Given the description of an element on the screen output the (x, y) to click on. 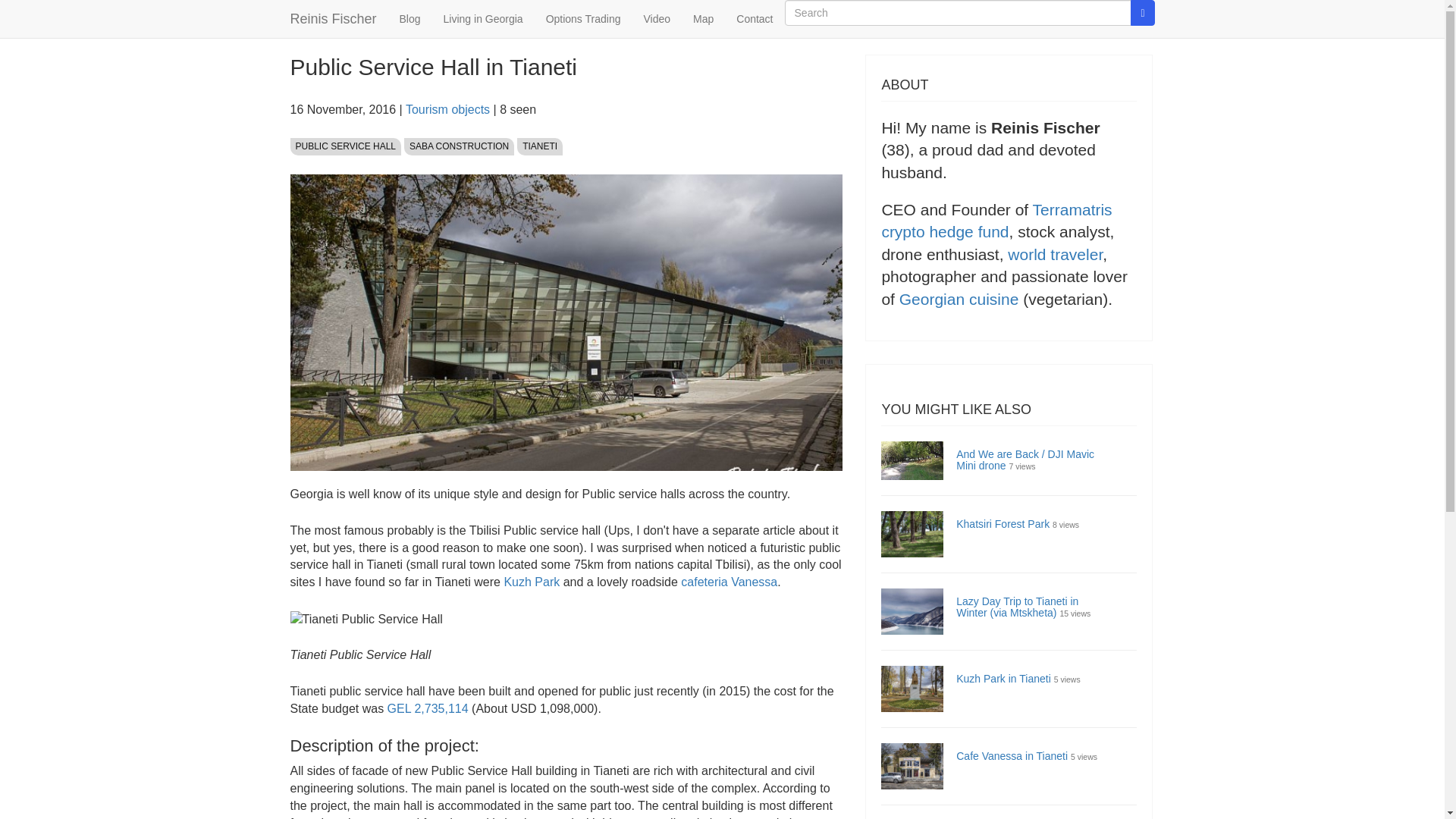
Kuzh Park in Tianeti (1003, 678)
Blog (410, 18)
GEL 2,735,114 (427, 707)
Khatsiri Forest Park (1002, 522)
TIANETI (539, 146)
Living in Georgia (483, 18)
Tourism objects (447, 109)
PUBLIC SERVICE HALL (345, 146)
Terramatris crypto hedge fund (996, 220)
Home (333, 18)
Wednesday, November 16, 2016 - 09:15 (342, 109)
Cafe Vanessa in Tianeti (1011, 756)
Map (703, 18)
Options Trading (582, 18)
